Given the description of an element on the screen output the (x, y) to click on. 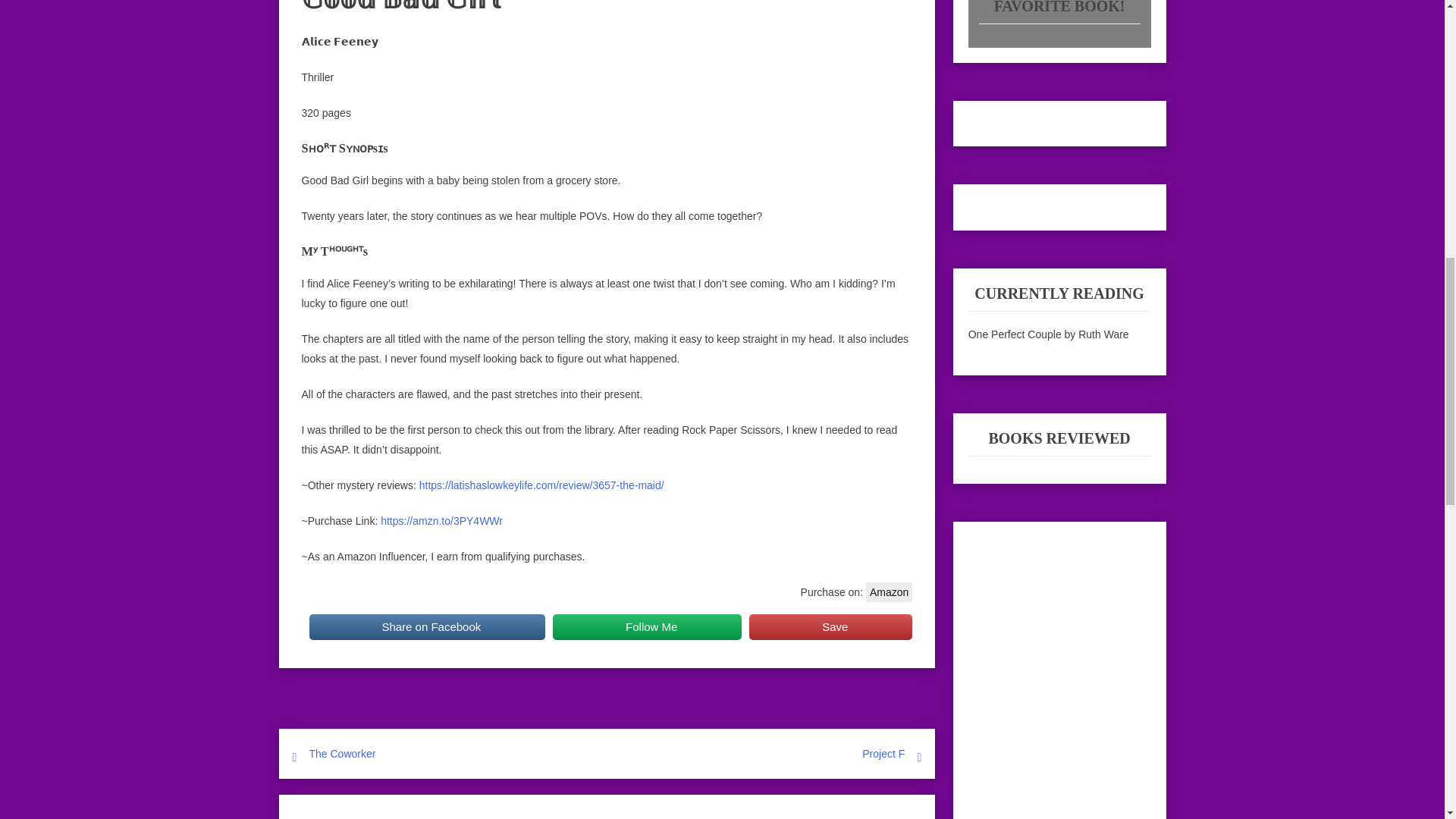
Save (830, 626)
Project F (882, 753)
Amazon (889, 591)
Share on Facebook (427, 626)
The Coworker (341, 753)
Follow Me (647, 626)
